Given the description of an element on the screen output the (x, y) to click on. 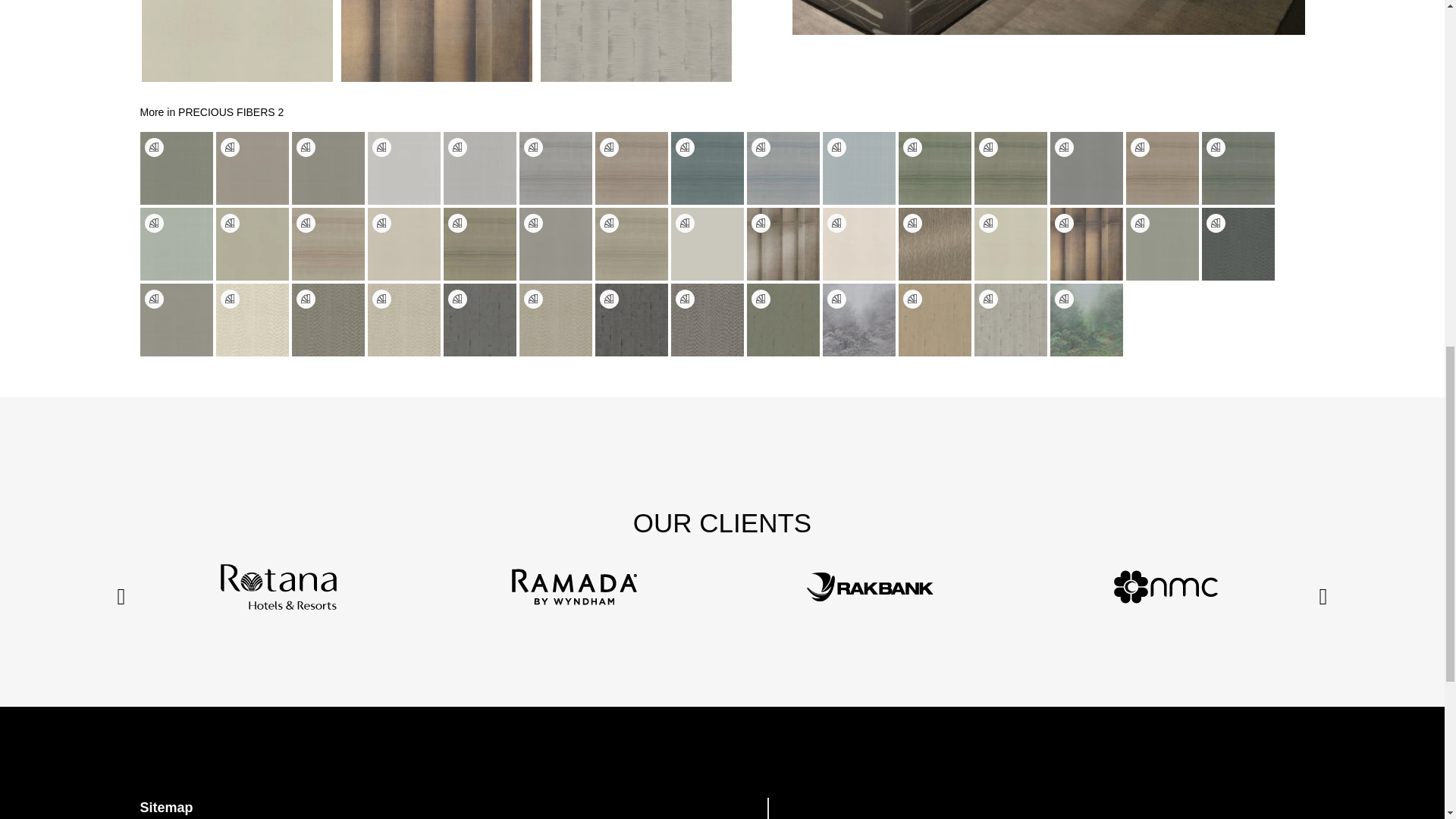
Order a sample (911, 147)
Order a sample (531, 147)
Order a sample (607, 147)
Order a sample (455, 147)
Order a sample (684, 147)
Order a sample (380, 147)
Order a sample (228, 147)
Order a sample (304, 147)
Order a sample (1214, 147)
Order a sample (153, 222)
Order a sample (836, 147)
Order a sample (1138, 147)
Order a sample (153, 147)
Order a sample (987, 147)
Order a sample (1063, 147)
